Given the description of an element on the screen output the (x, y) to click on. 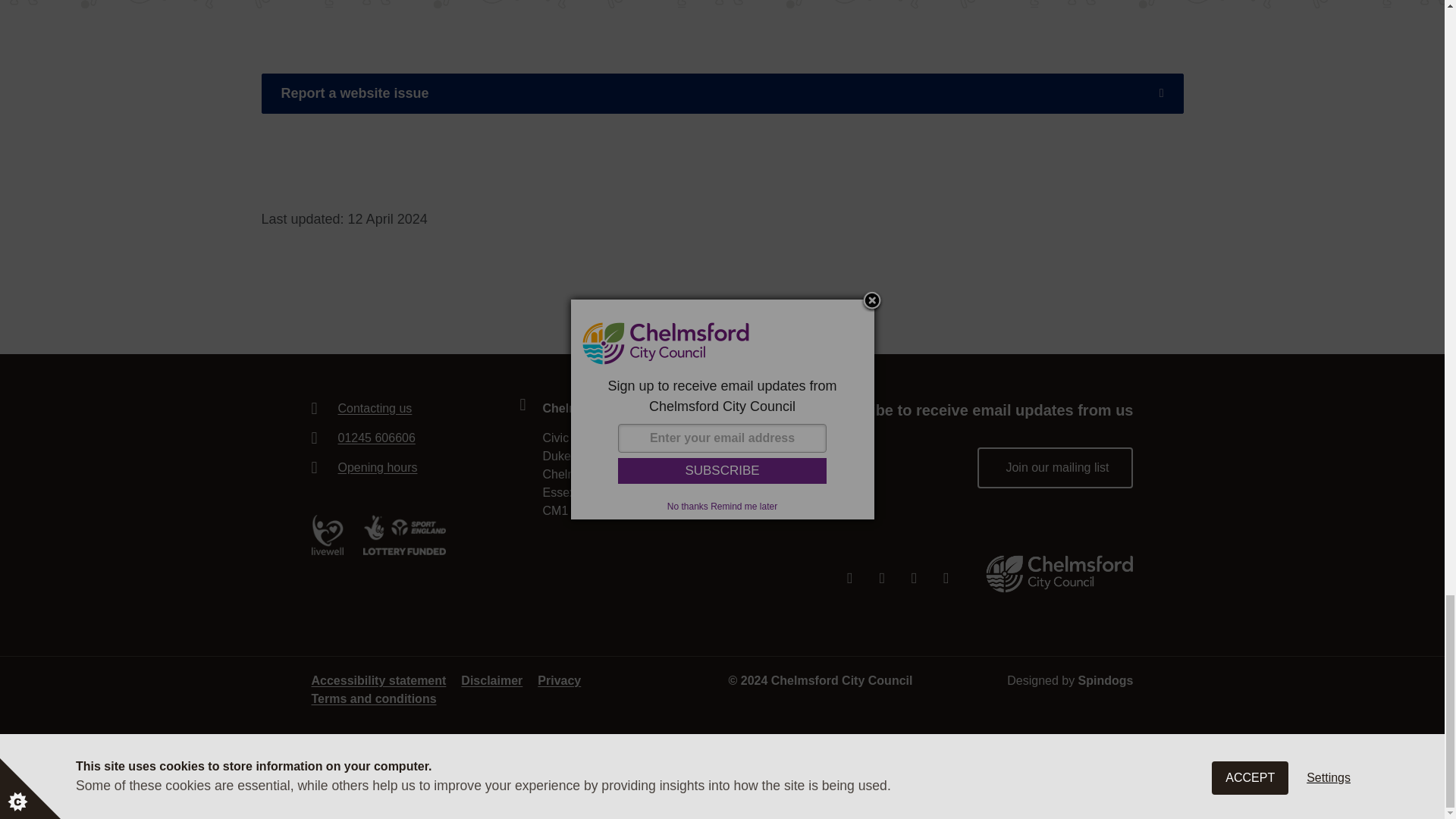
Spindogs (1106, 680)
Livewell (326, 535)
Chelmsford City Council (1059, 573)
Call now (408, 438)
